Given the description of an element on the screen output the (x, y) to click on. 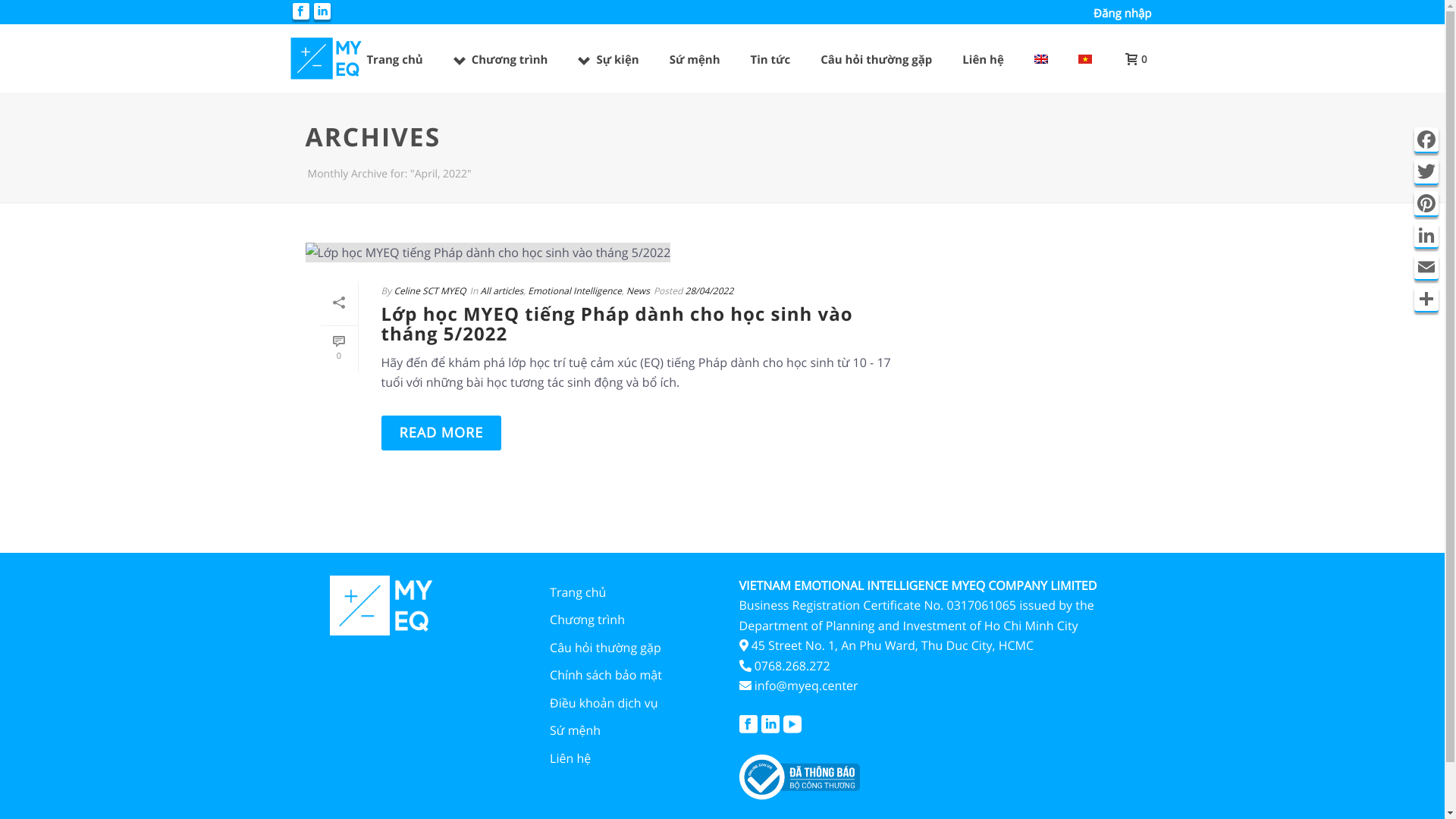
0 Element type: text (338, 348)
Follow Us on linkedin Element type: hover (770, 724)
Pinterest Element type: text (1426, 203)
0 Element type: text (1132, 58)
Emotional Intelligence Element type: text (574, 290)
LinkedIn Element type: text (1426, 235)
Follow Us on youtube Element type: hover (791, 724)
  Element type: text (604, 251)
Twitter Element type: text (1426, 172)
info@myeq.center Element type: text (806, 685)
Follow Us on facebook Element type: hover (747, 724)
Celine SCT MYEQ Element type: text (429, 290)
News Element type: text (637, 290)
Facebook Element type: text (1426, 140)
READ MORE Element type: text (440, 432)
All articles Element type: text (501, 290)
Share Element type: text (1426, 299)
28/04/2022 Element type: text (709, 290)
0768.268.272 Element type: text (792, 665)
Email Element type: text (1426, 267)
